Given the description of an element on the screen output the (x, y) to click on. 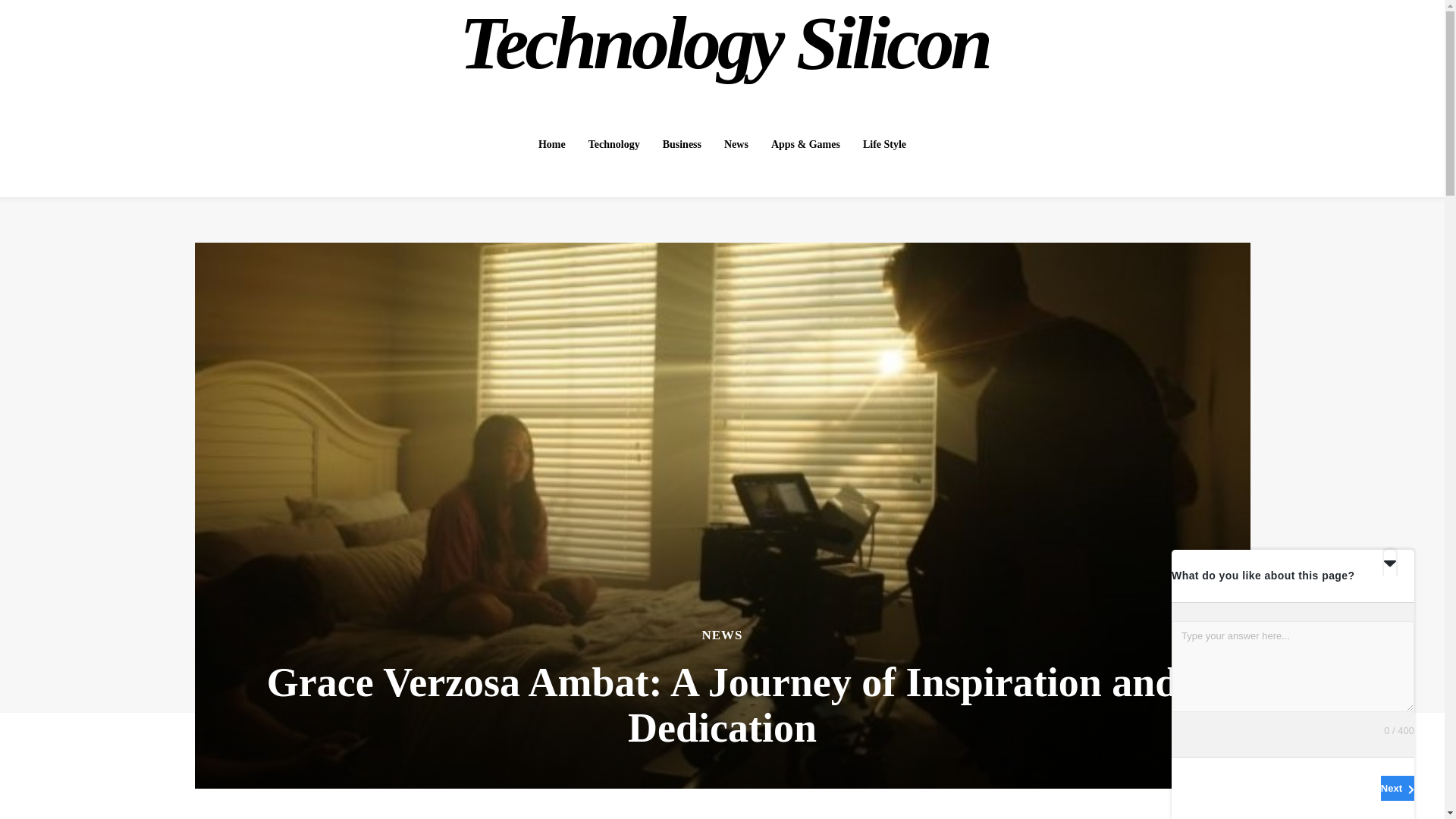
Technology (613, 144)
Life Style (885, 144)
Business (682, 144)
Technology Silicon (724, 44)
News (735, 144)
Home (552, 144)
NEWS (721, 634)
